Given the description of an element on the screen output the (x, y) to click on. 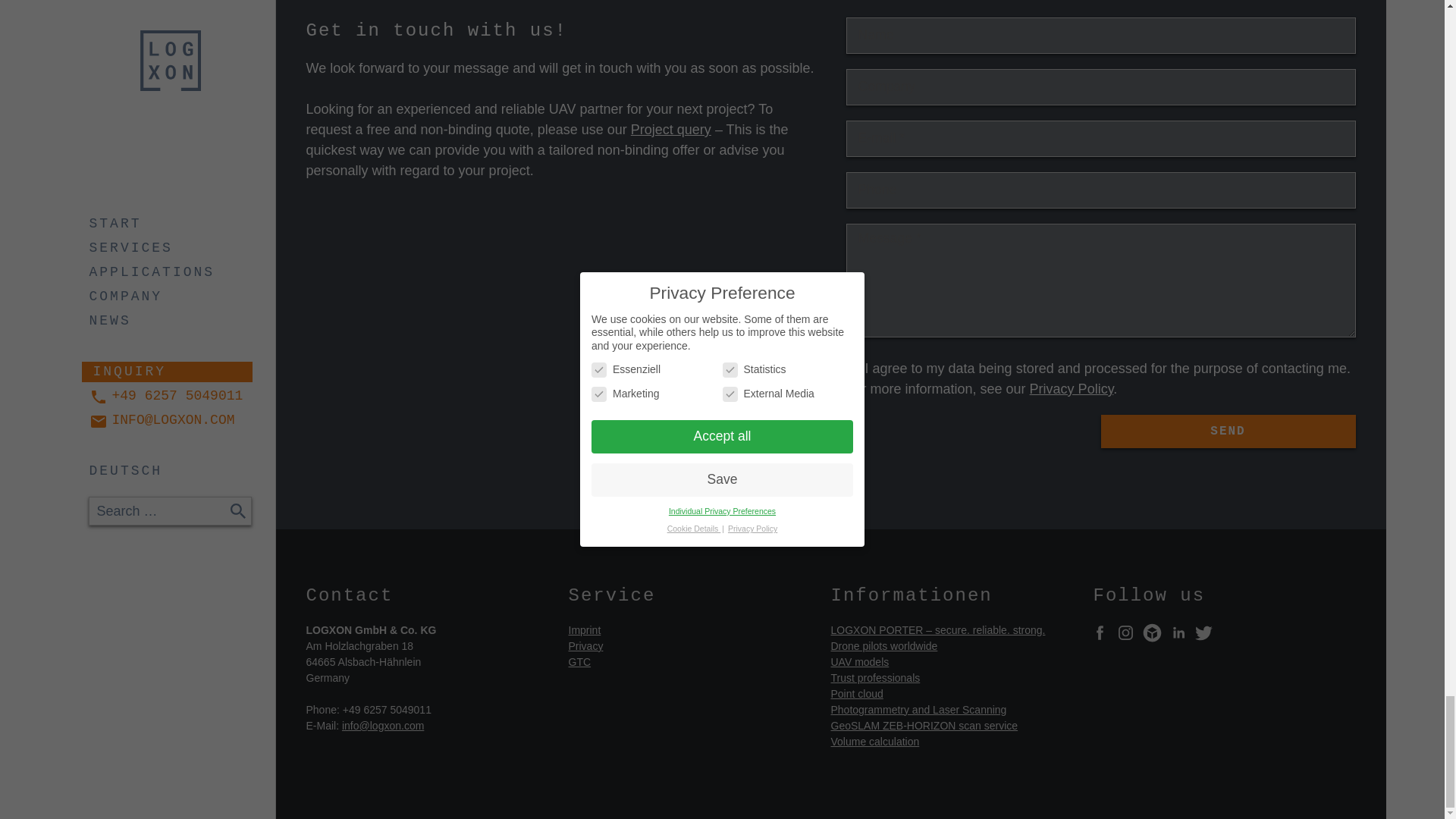
Trust professionals (875, 677)
GTC (580, 662)
Photogrammetry and Laser Scanning (919, 709)
Privacy (586, 645)
UAV models (860, 662)
Drone pilots worldwide (884, 645)
Send (1227, 430)
Point cloud (857, 693)
1 (853, 368)
Imprint (585, 630)
